Given the description of an element on the screen output the (x, y) to click on. 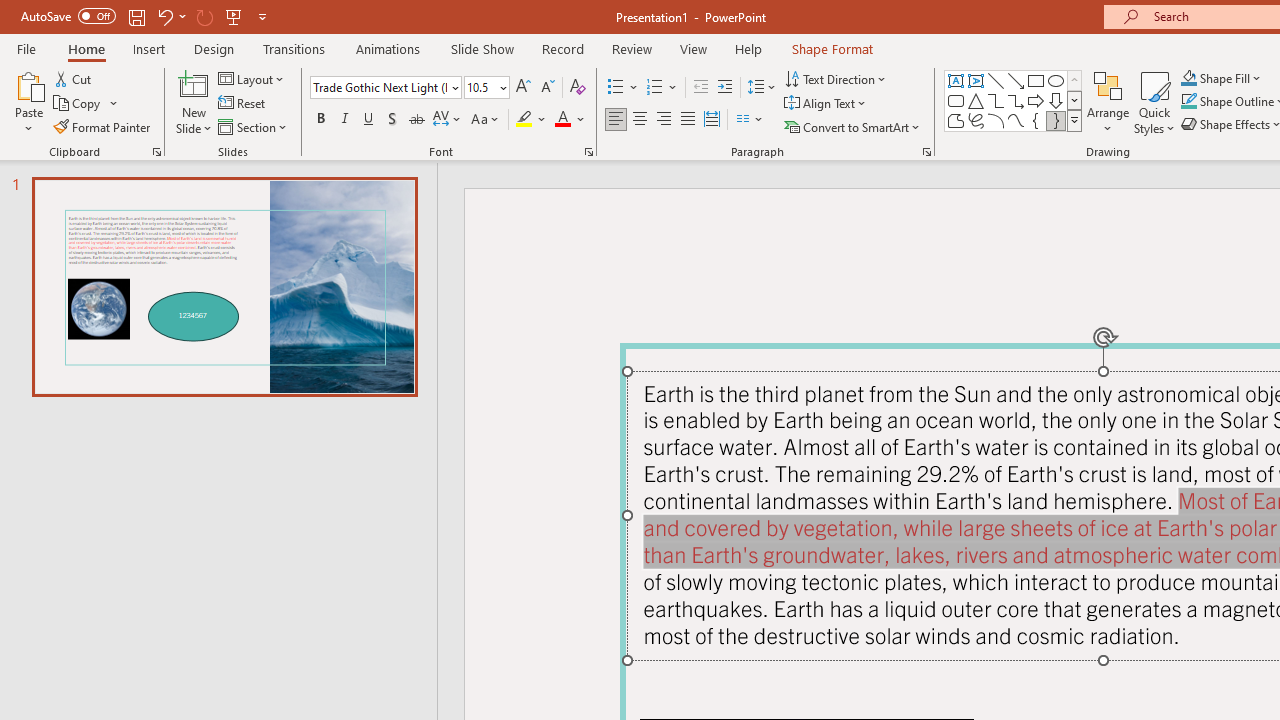
Rectangle (1035, 80)
Line Arrow (1016, 80)
Columns (750, 119)
Underline (369, 119)
Oval (1055, 80)
Arrow: Right (1035, 100)
Strikethrough (416, 119)
Shape Fill (1221, 78)
Freeform: Scribble (975, 120)
Section (254, 126)
AutomationID: ShapesInsertGallery (1014, 100)
